Given the description of an element on the screen output the (x, y) to click on. 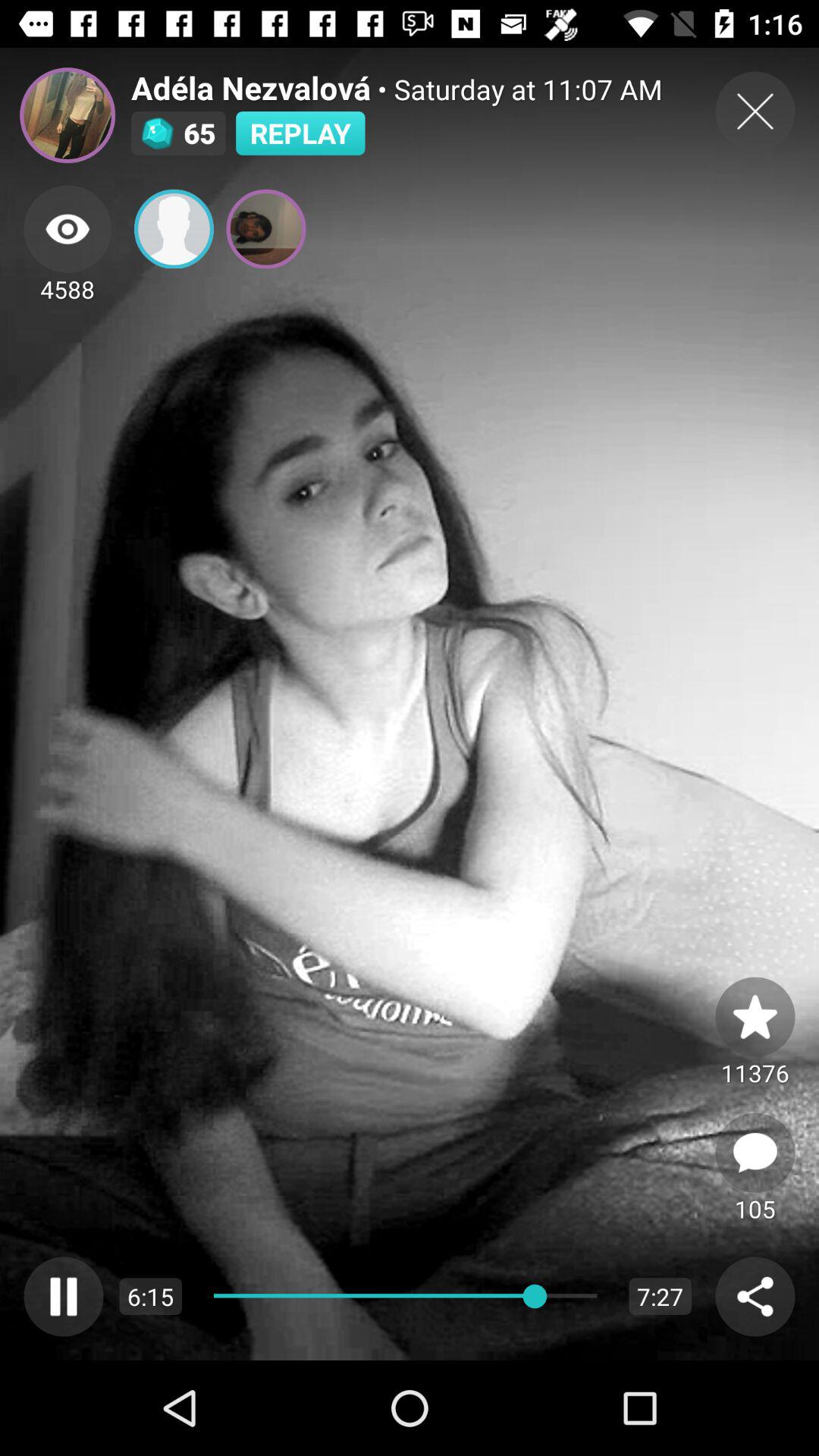
close video (755, 111)
